Given the description of an element on the screen output the (x, y) to click on. 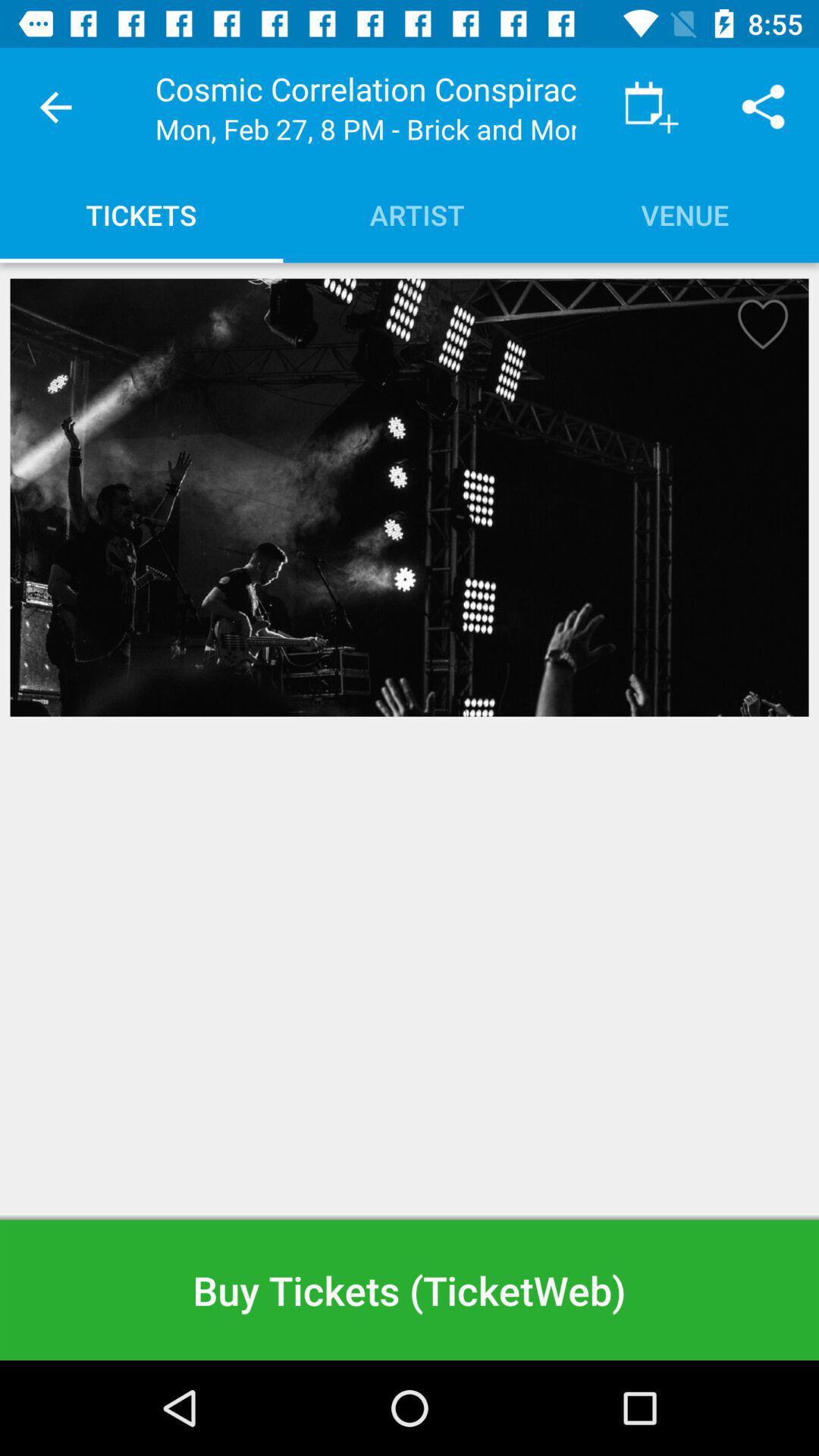
marks event as a favorite to find easier at a later time (757, 329)
